Given the description of an element on the screen output the (x, y) to click on. 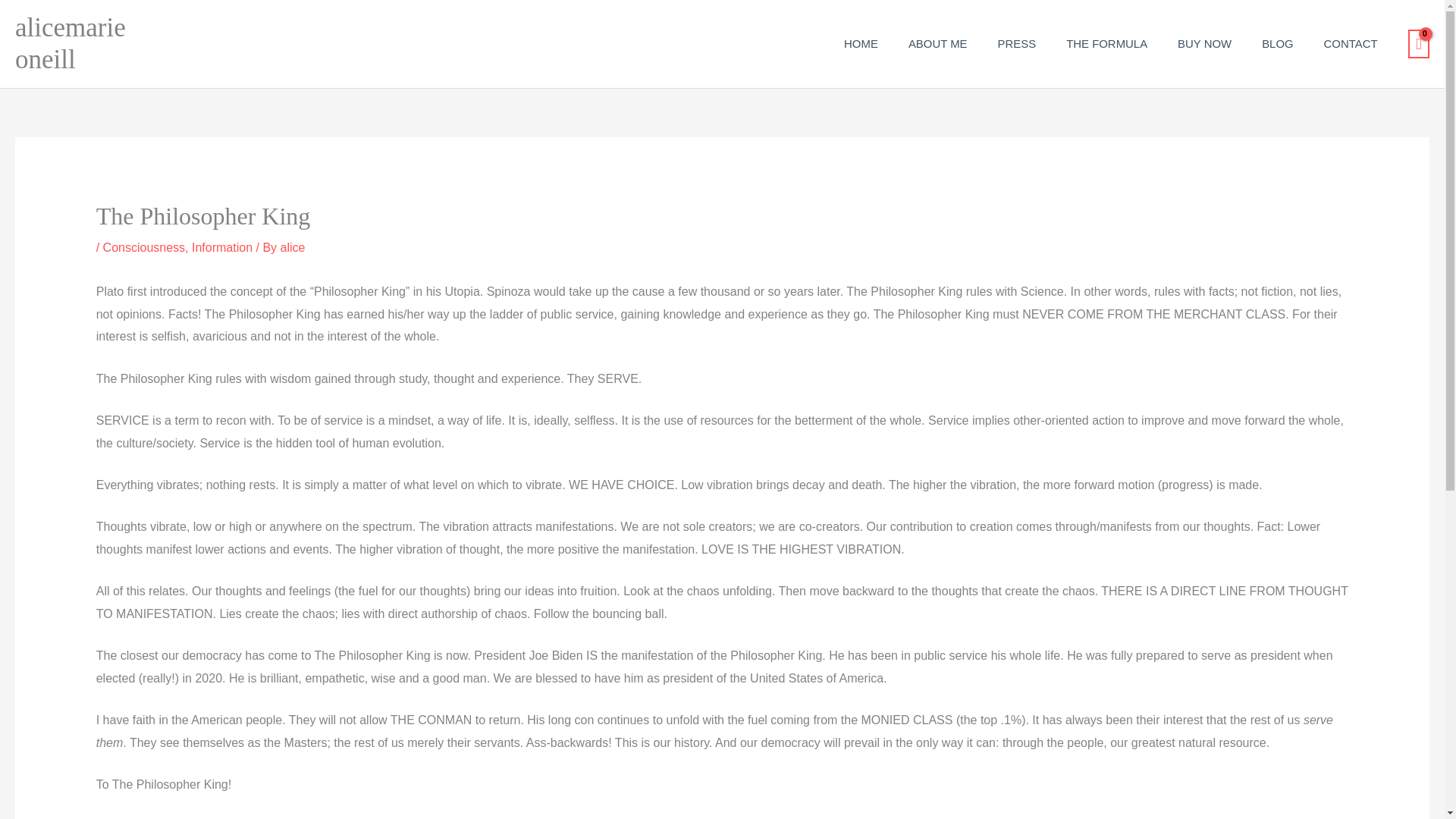
ABOUT ME (937, 43)
THE FORMULA (1106, 43)
alice (293, 246)
Information (221, 246)
CONTACT (1350, 43)
BLOG (1276, 43)
PRESS (1016, 43)
Consciousness (144, 246)
View all posts by alice (293, 246)
BUY NOW (1203, 43)
